Given the description of an element on the screen output the (x, y) to click on. 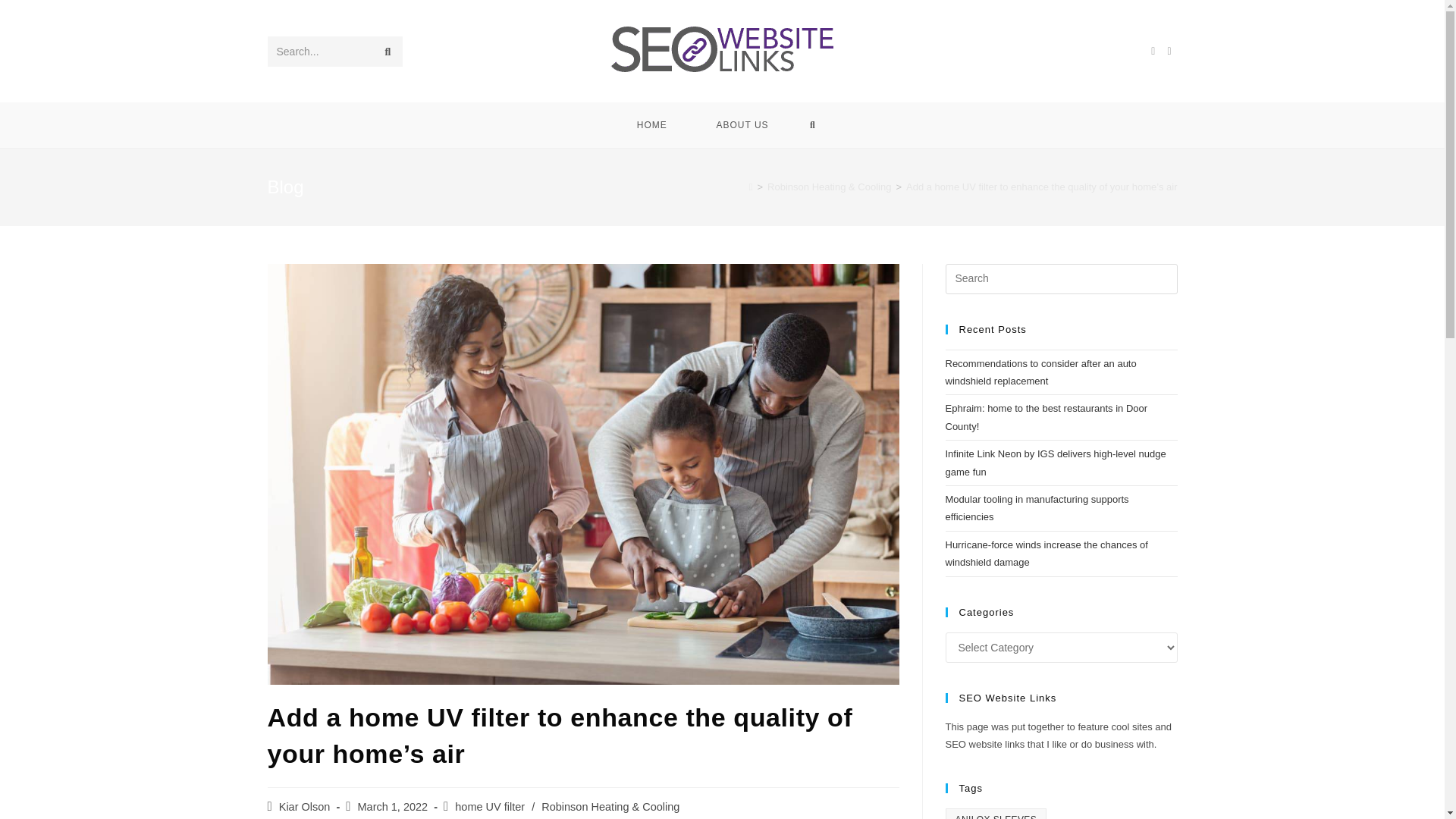
Ephraim: home to the best restaurants in Door County! (1045, 416)
home UV filter (489, 806)
Kiar Olson (304, 806)
HOME (651, 125)
Posts by Kiar Olson (304, 806)
Infinite Link Neon by IGS delivers high-level nudge game fun (1055, 461)
ABOUT US (742, 125)
Submit search (386, 51)
